Given the description of an element on the screen output the (x, y) to click on. 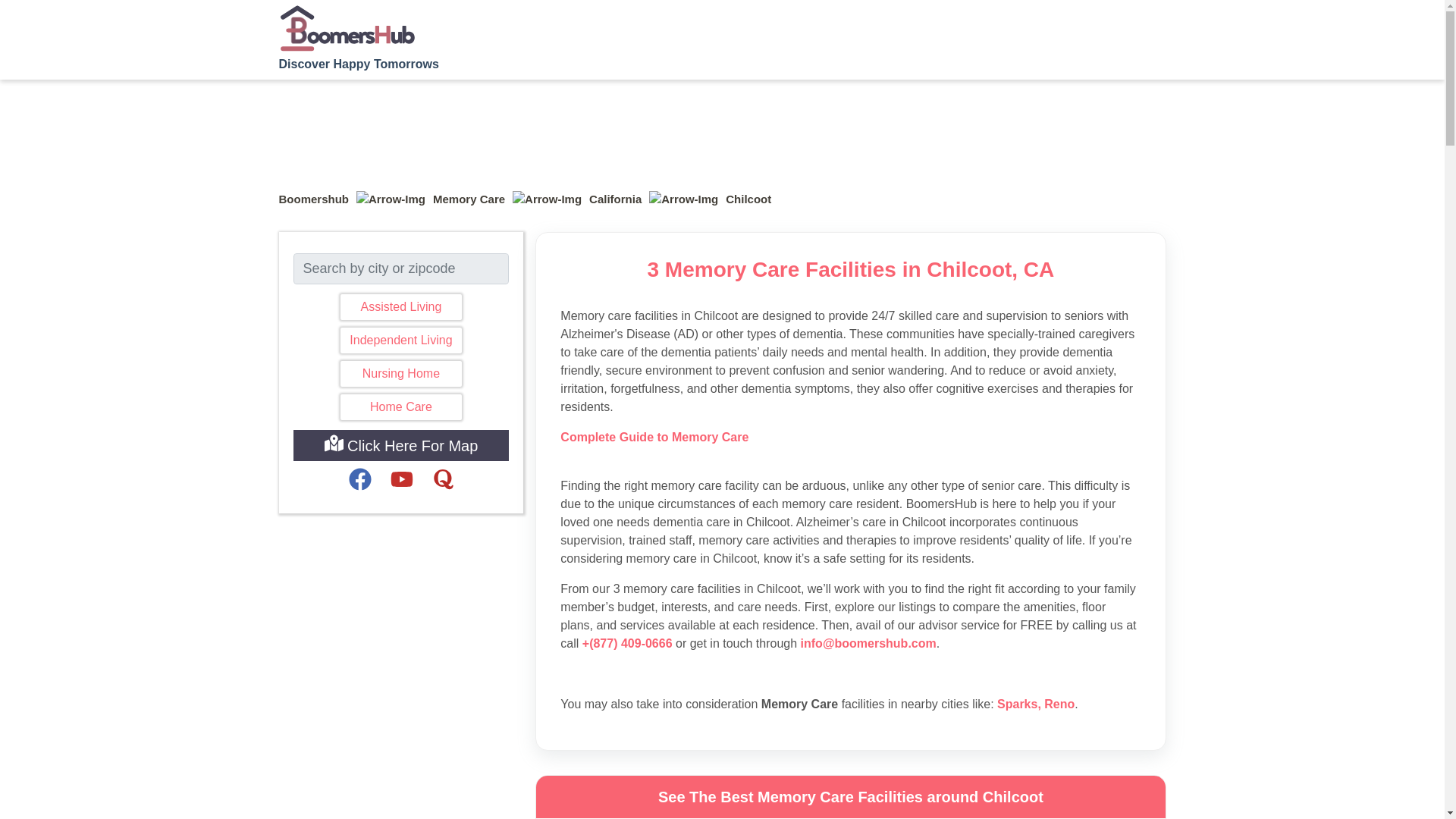
Assisted Living in Chilcoot, CA (400, 307)
Boomershub (314, 199)
Sparks (1016, 704)
California (615, 199)
Boomershub (314, 199)
Assisted Living (400, 307)
Memory Care facilities in Chilcoot, CA (748, 198)
Memory Care facilities in California (615, 199)
Reno (1058, 704)
Nursing Home in Chilcoot, CA (400, 373)
